Given the description of an element on the screen output the (x, y) to click on. 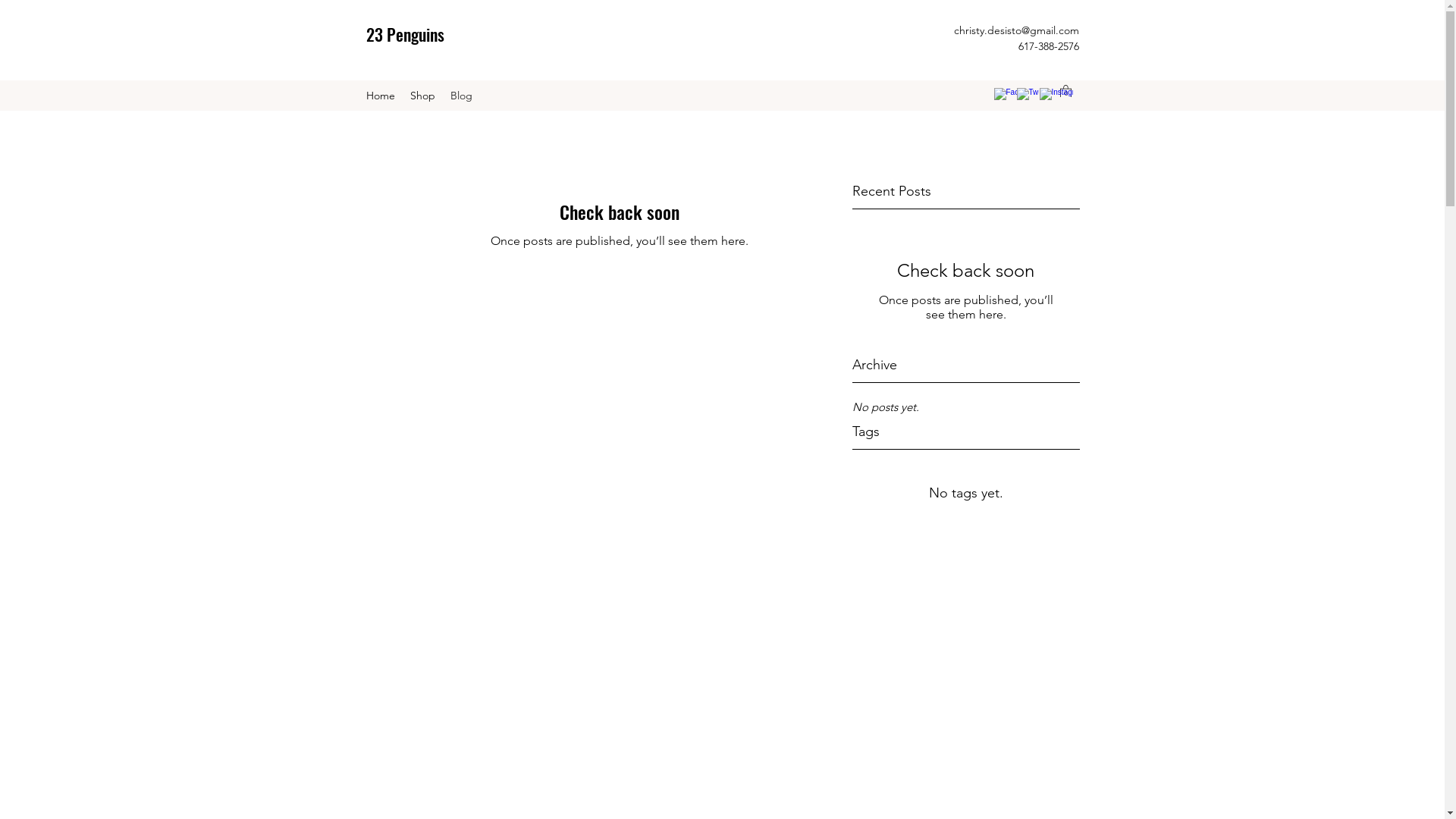
Shop Element type: text (421, 95)
0 Element type: text (1065, 90)
Home Element type: text (379, 95)
Blog Element type: text (461, 95)
christy.desisto@gmail.com Element type: text (1016, 30)
